Given the description of an element on the screen output the (x, y) to click on. 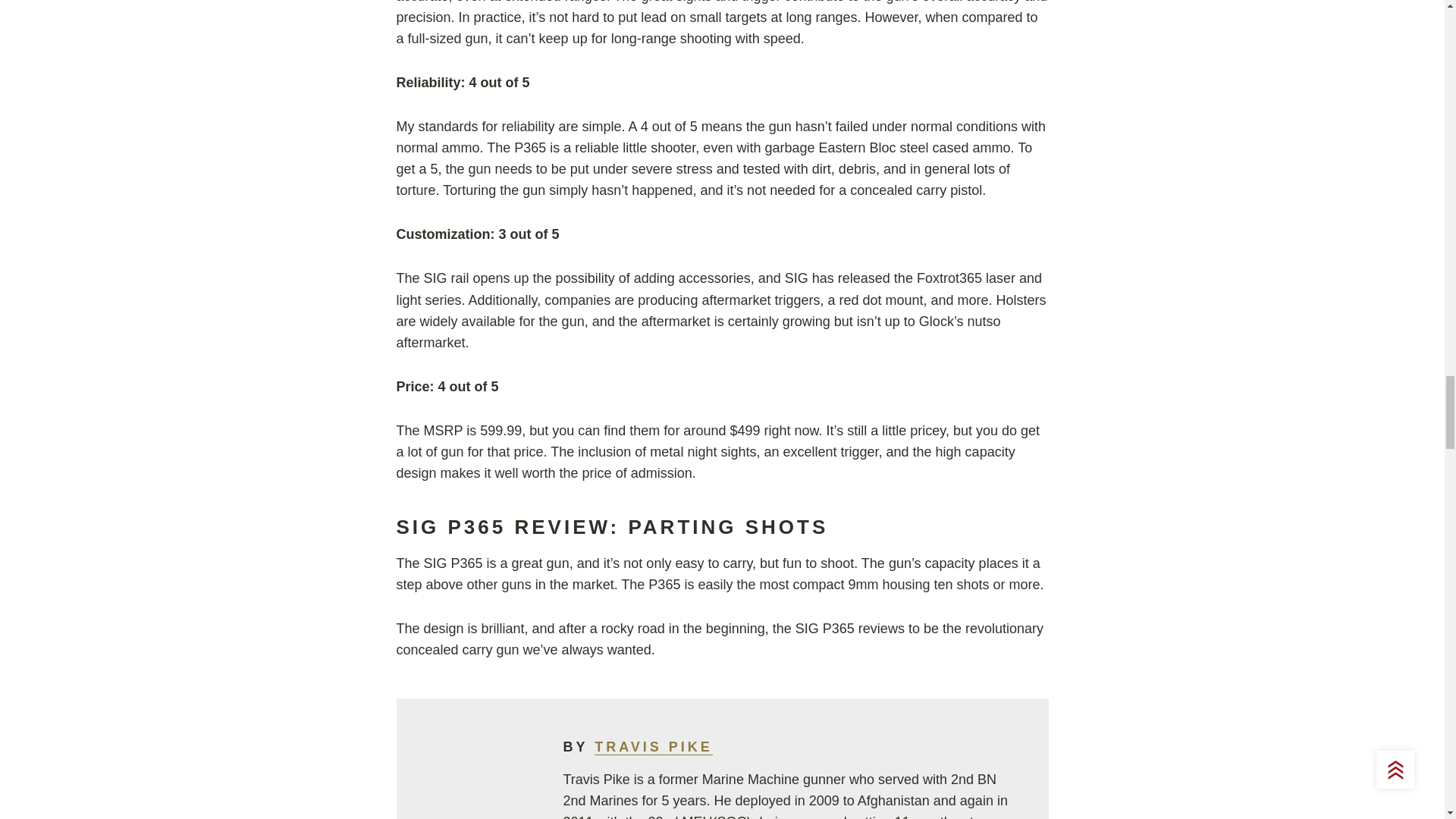
Posts by Travis Pike (653, 747)
